Given the description of an element on the screen output the (x, y) to click on. 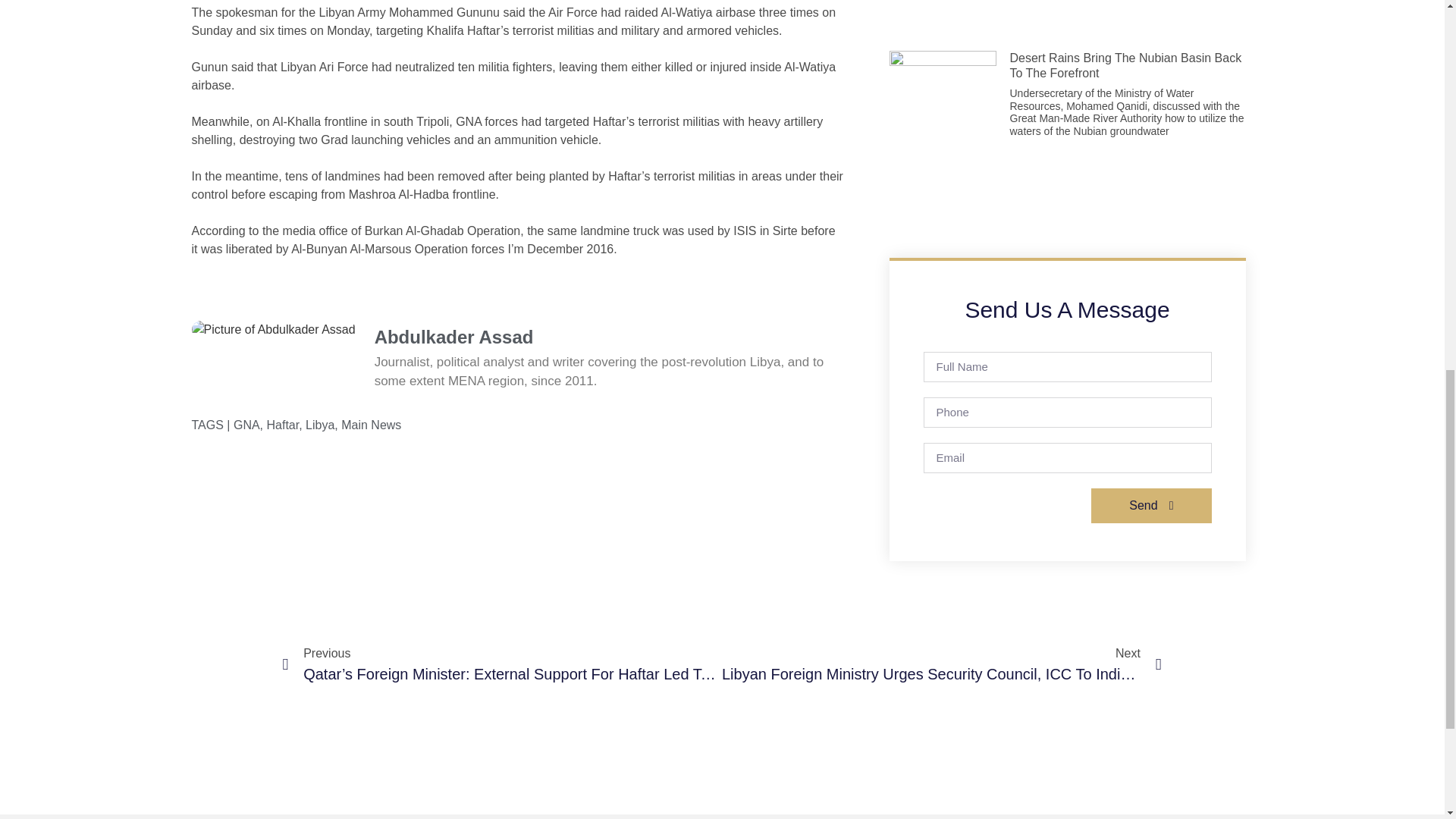
Desert Rains Bring The Nubian Basin Back To The Forefront (1125, 64)
GNA (246, 424)
Send (1150, 505)
Main News (370, 424)
Haftar (282, 424)
Libya (319, 424)
